Given the description of an element on the screen output the (x, y) to click on. 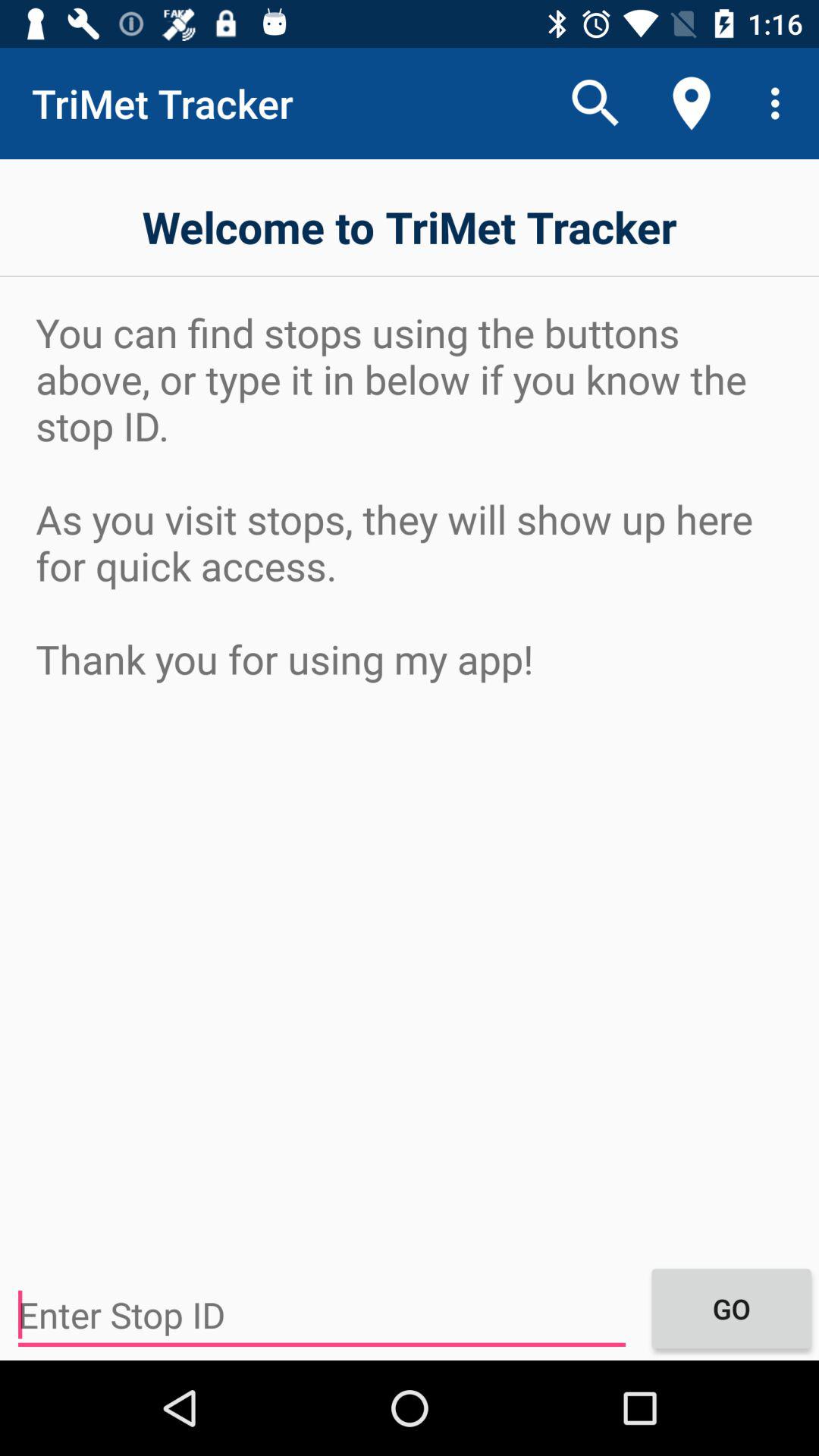
click go (731, 1308)
